Given the description of an element on the screen output the (x, y) to click on. 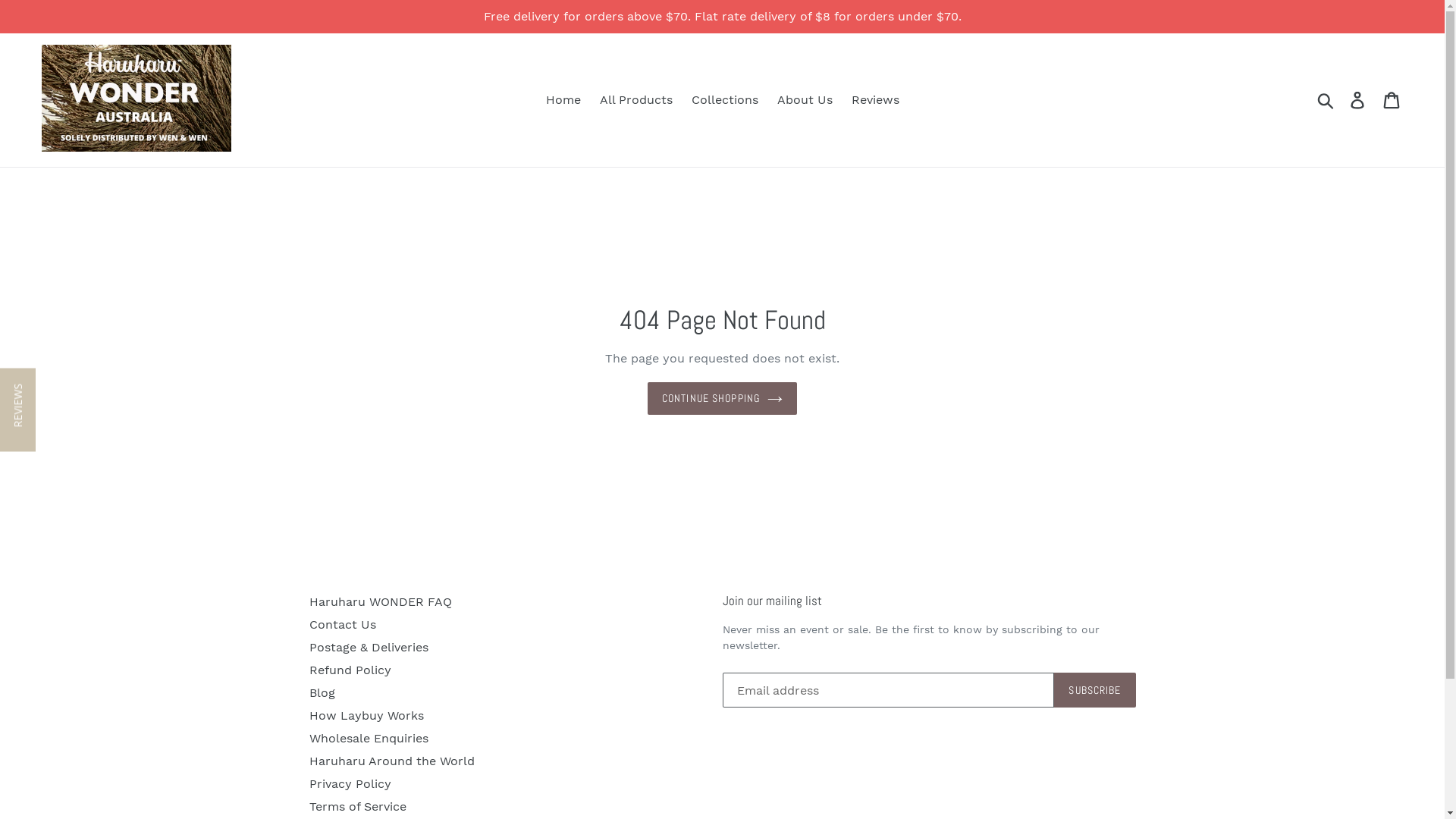
Terms of Service Element type: text (357, 806)
Privacy Policy Element type: text (350, 783)
Collections Element type: text (724, 99)
Cart Element type: text (1392, 100)
Reviews Element type: text (874, 99)
SUBSCRIBE Element type: text (1094, 689)
Blog Element type: text (322, 692)
Contact Us Element type: text (342, 624)
Haruharu WONDER FAQ Element type: text (380, 601)
Refund Policy Element type: text (350, 669)
How Laybuy Works Element type: text (366, 715)
CONTINUE SHOPPING Element type: text (722, 398)
All Products Element type: text (635, 99)
Submit Element type: text (1326, 99)
Postage & Deliveries Element type: text (368, 647)
Home Element type: text (563, 99)
Wholesale Enquiries Element type: text (368, 738)
Log in Element type: text (1358, 100)
About Us Element type: text (803, 99)
Haruharu Around the World Element type: text (391, 760)
